Given the description of an element on the screen output the (x, y) to click on. 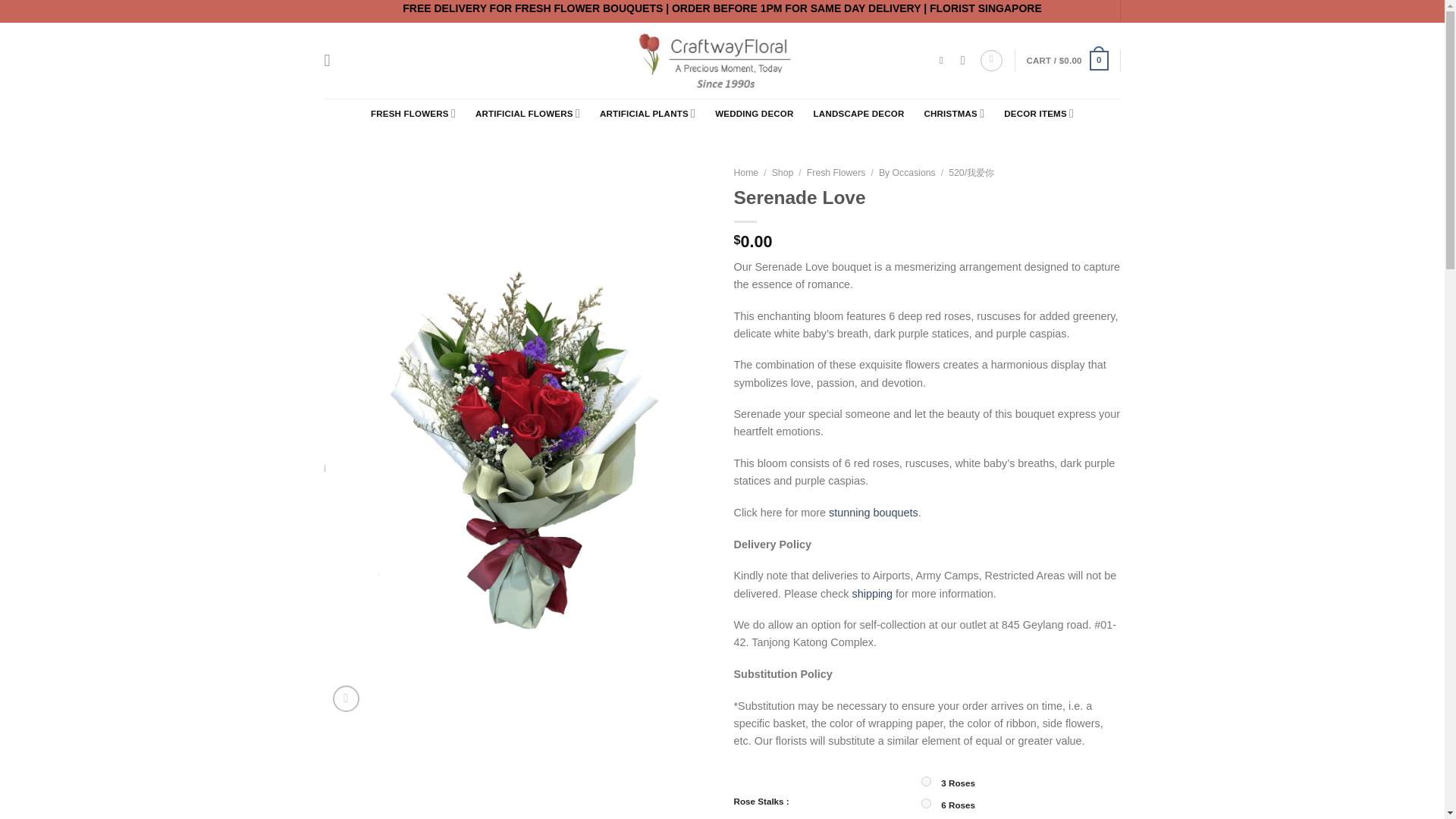
ARTIFICIAL PLANTS (647, 112)
3 Roses (926, 781)
Cart (1067, 60)
6 Roses (926, 803)
ARTIFICIAL FLOWERS (527, 112)
Zoom (346, 698)
FRESH FLOWERS (413, 112)
